Given the description of an element on the screen output the (x, y) to click on. 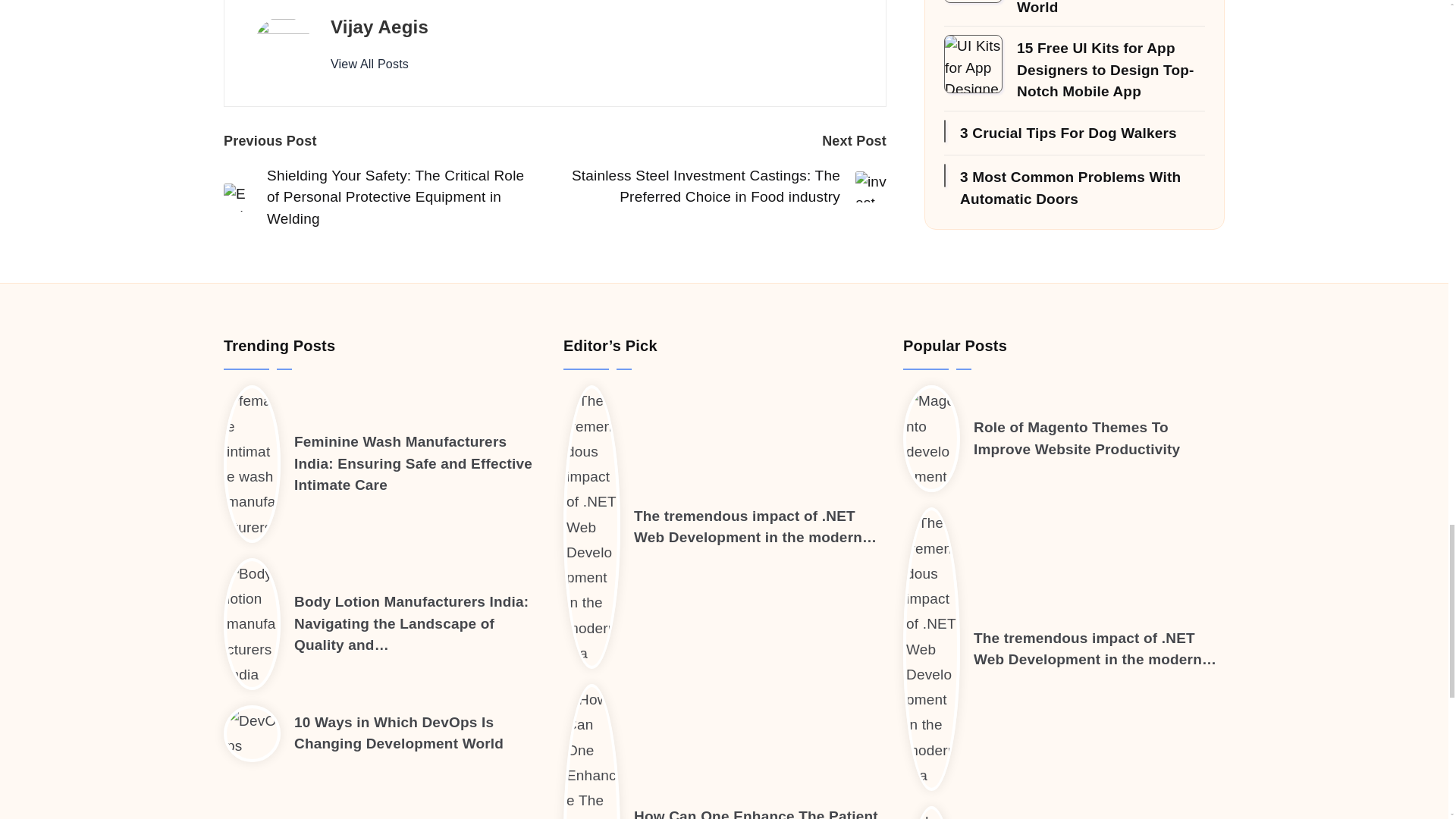
10 Ways in Which DevOps Is Changing Development World (398, 733)
Role of Magento Themes To Improve Website Productivity (1076, 438)
